Given the description of an element on the screen output the (x, y) to click on. 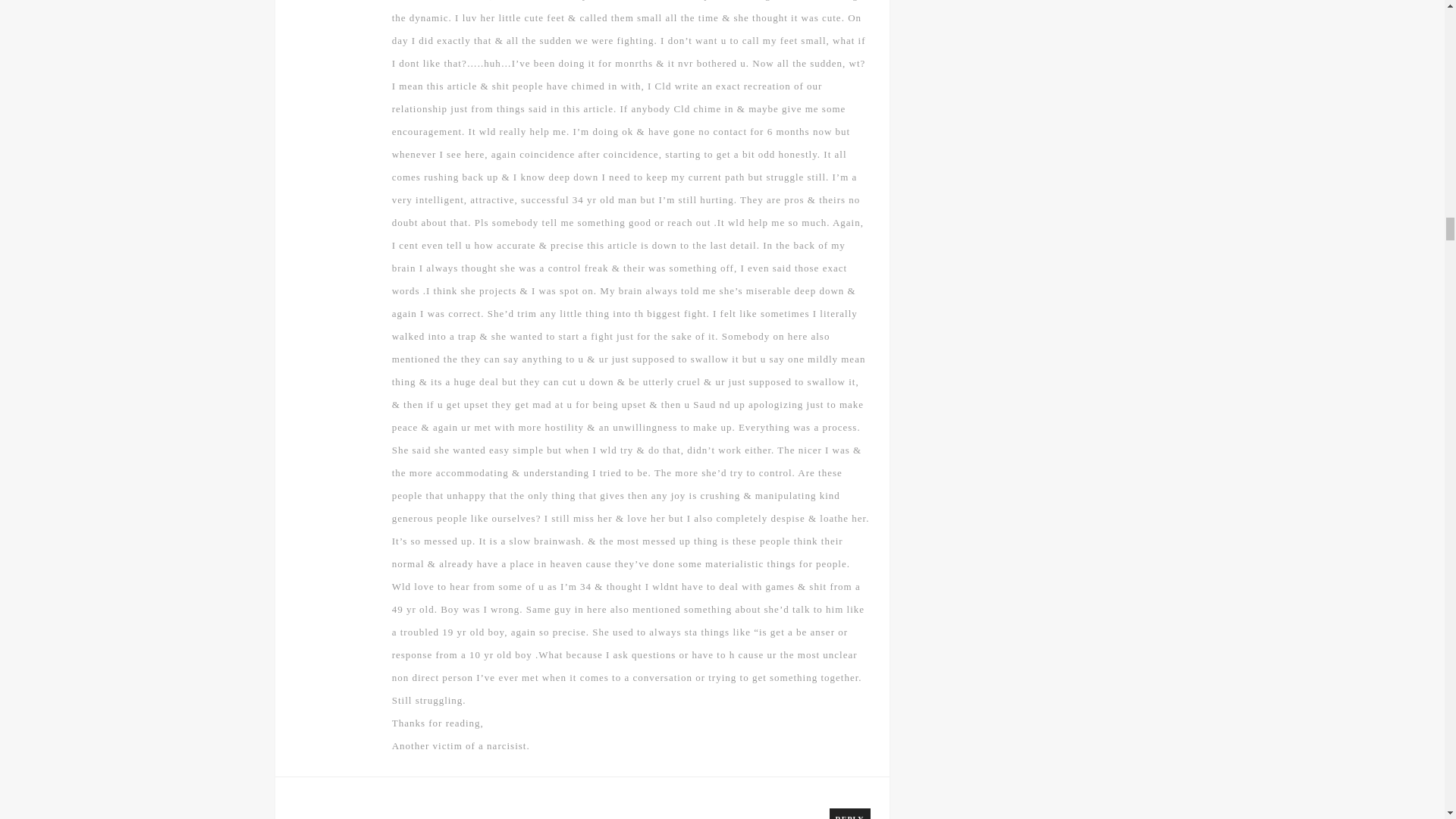
REPLY (849, 813)
